Given the description of an element on the screen output the (x, y) to click on. 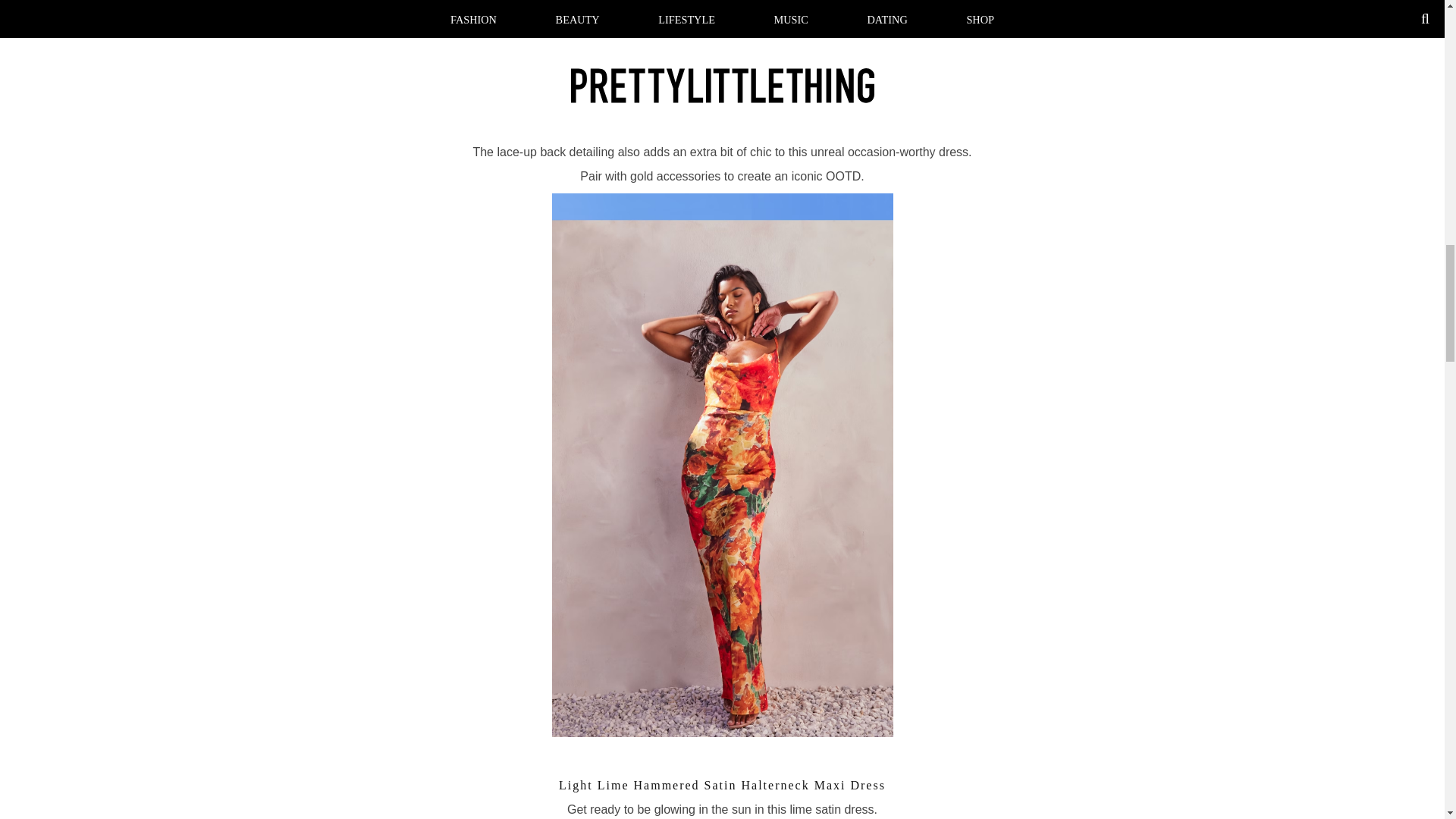
Orange Floral Print Sheer Chiffon Lace Up Back Maxi Dress (721, 78)
Light Lime Hammered Satin Halterneck Maxi Dress (722, 785)
